Given the description of an element on the screen output the (x, y) to click on. 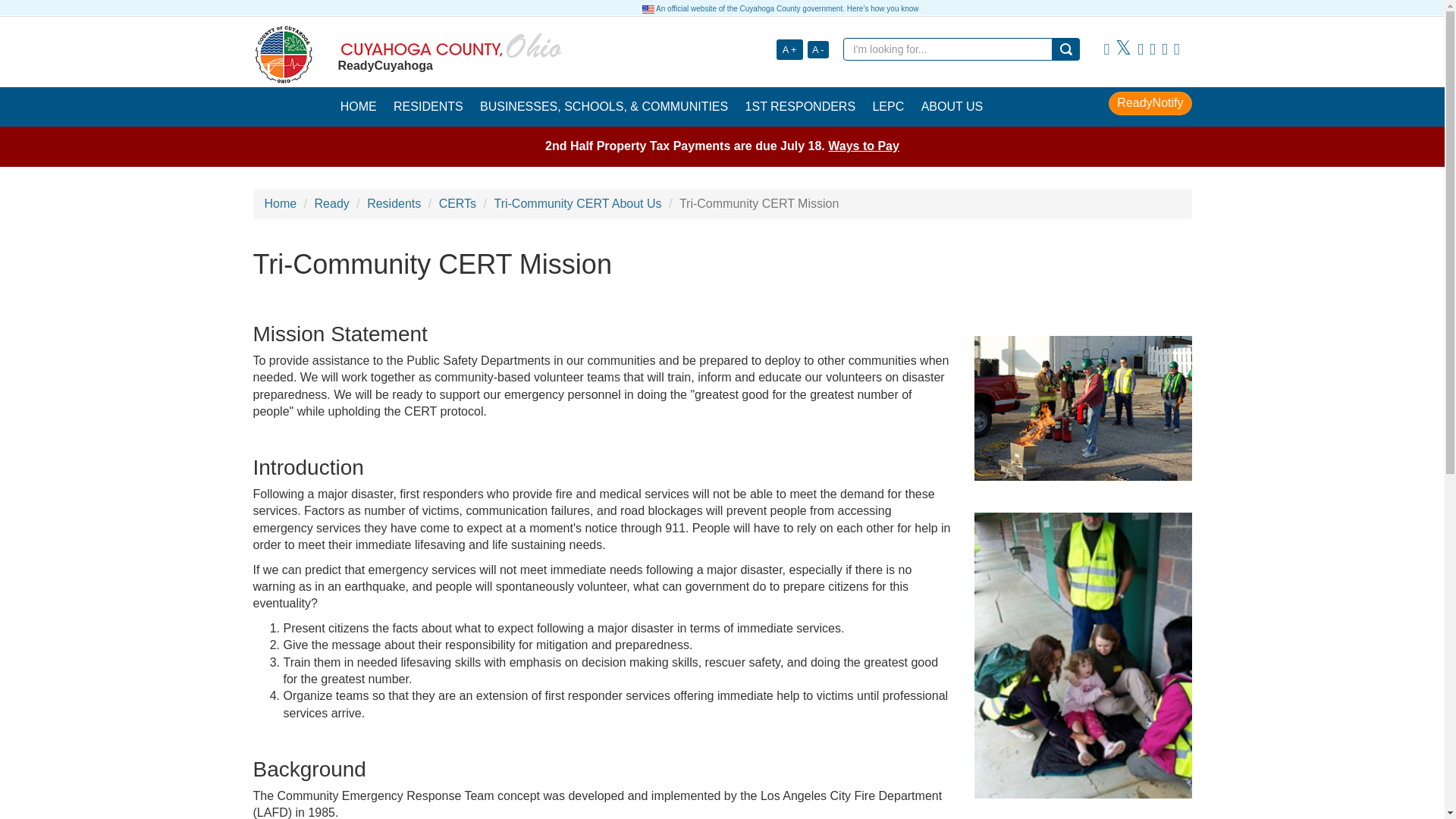
Facebook (1106, 48)
Residents (393, 203)
HOME (358, 106)
Podcast (1176, 48)
1ST RESPONDERS (799, 106)
Tri-Community CERT About Us (577, 203)
LEPC (887, 106)
Instagram (1164, 48)
Newsletter Registration (1153, 48)
CERTFire (1082, 407)
ABOUT US (951, 106)
Facebook (1106, 48)
YouTube (1139, 48)
CERTAid (1082, 655)
Podcast (1176, 48)
